Given the description of an element on the screen output the (x, y) to click on. 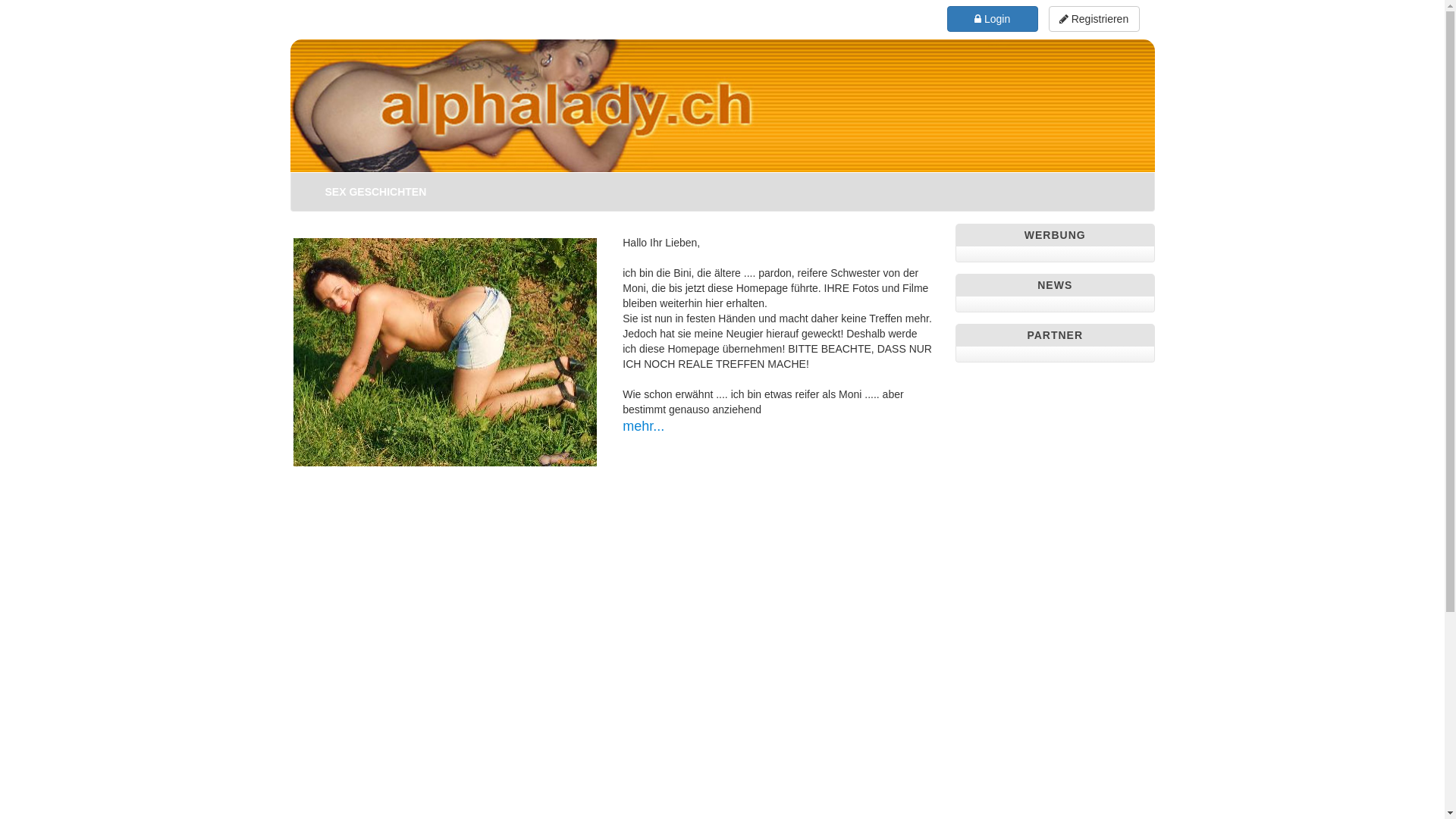
mehr... Element type: text (643, 425)
Login Element type: text (992, 18)
Registrieren Element type: text (1093, 18)
Login Element type: text (992, 18)
Registrieren Element type: text (1093, 18)
SEX GESCHICHTEN Element type: text (375, 191)
